Given the description of an element on the screen output the (x, y) to click on. 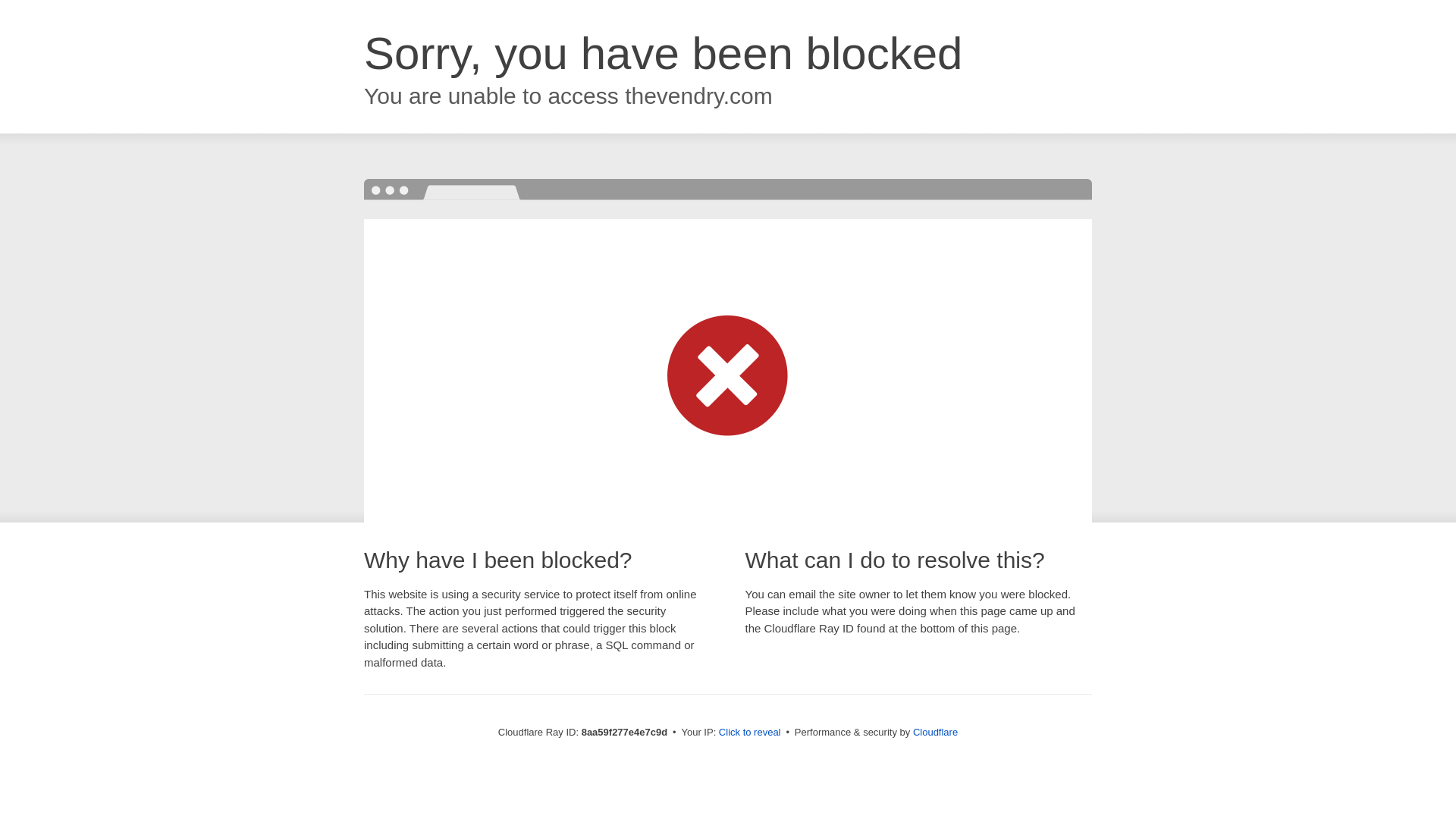
Cloudflare (935, 731)
Click to reveal (749, 732)
